Given the description of an element on the screen output the (x, y) to click on. 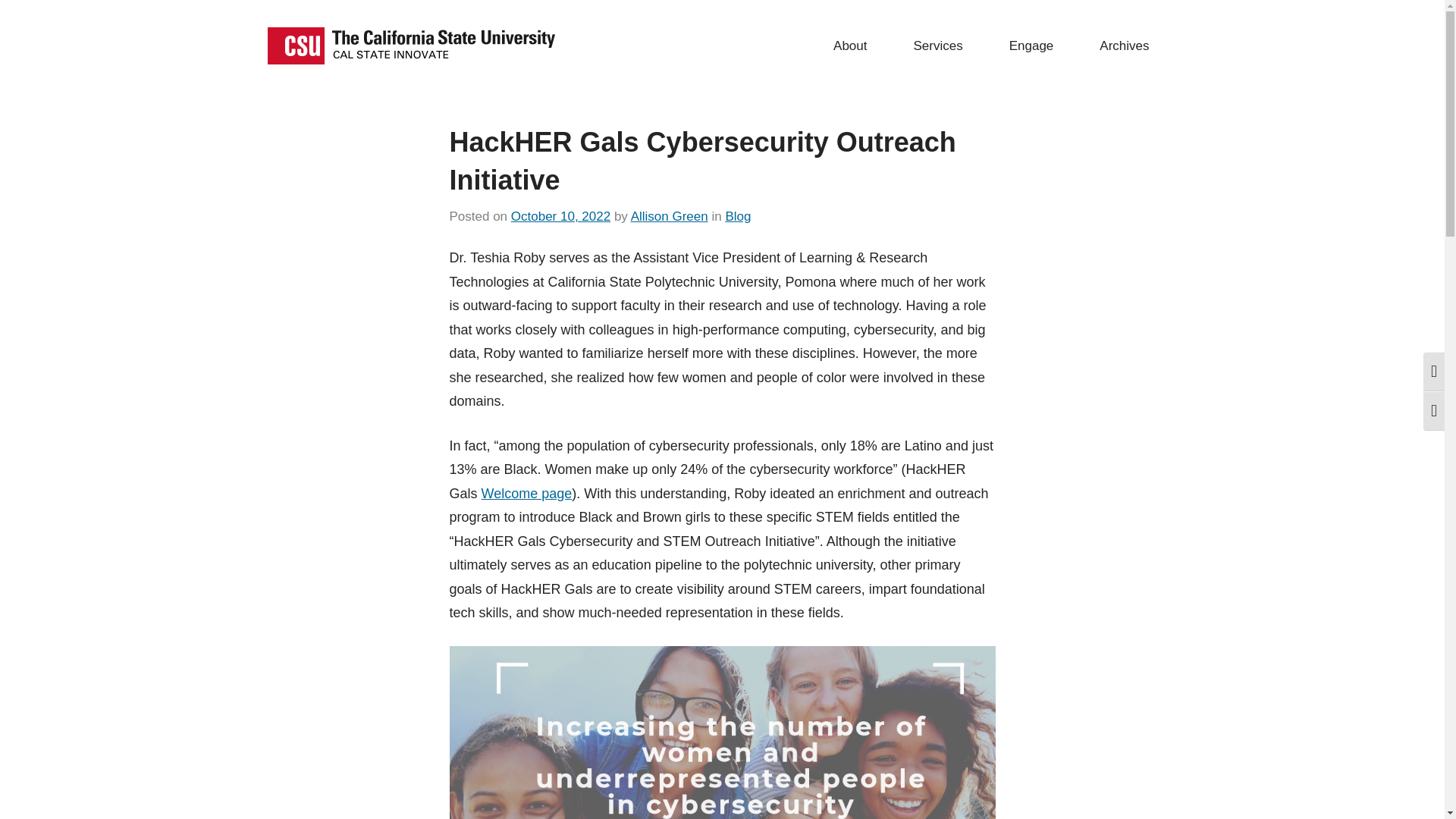
Blog (738, 216)
Welcome page (526, 493)
Archives (1128, 46)
Engage (1036, 46)
About (854, 46)
October 10, 2022 (560, 216)
Allison Green (668, 216)
Services (942, 46)
